Given the description of an element on the screen output the (x, y) to click on. 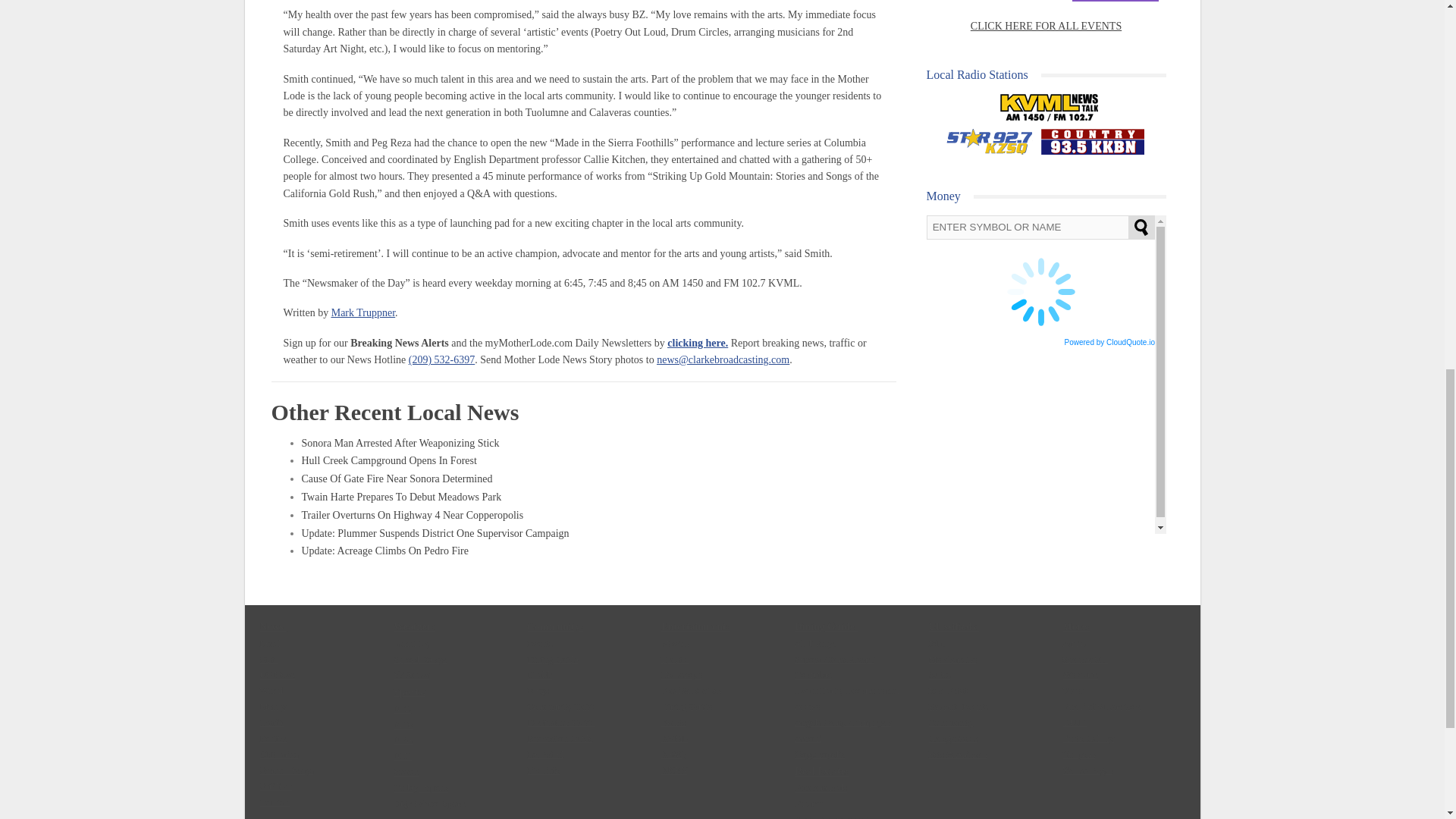
Add An Event (1114, 1)
